Given the description of an element on the screen output the (x, y) to click on. 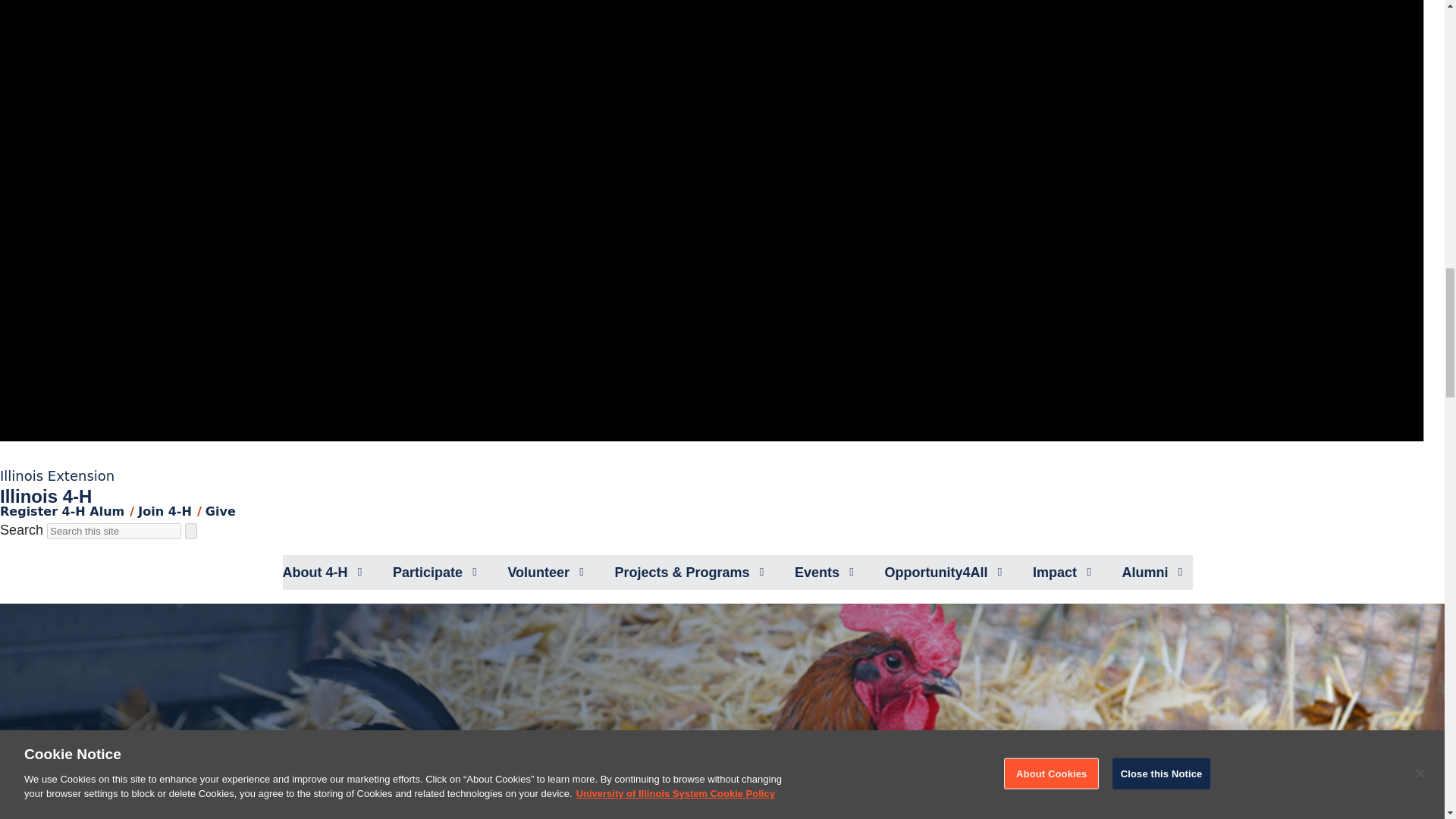
Give (220, 511)
Register 4-H Alum (61, 511)
About 4-H (314, 572)
Illinois Extension (57, 475)
Illinois 4-H (45, 496)
Join 4-H (165, 511)
